Given the description of an element on the screen output the (x, y) to click on. 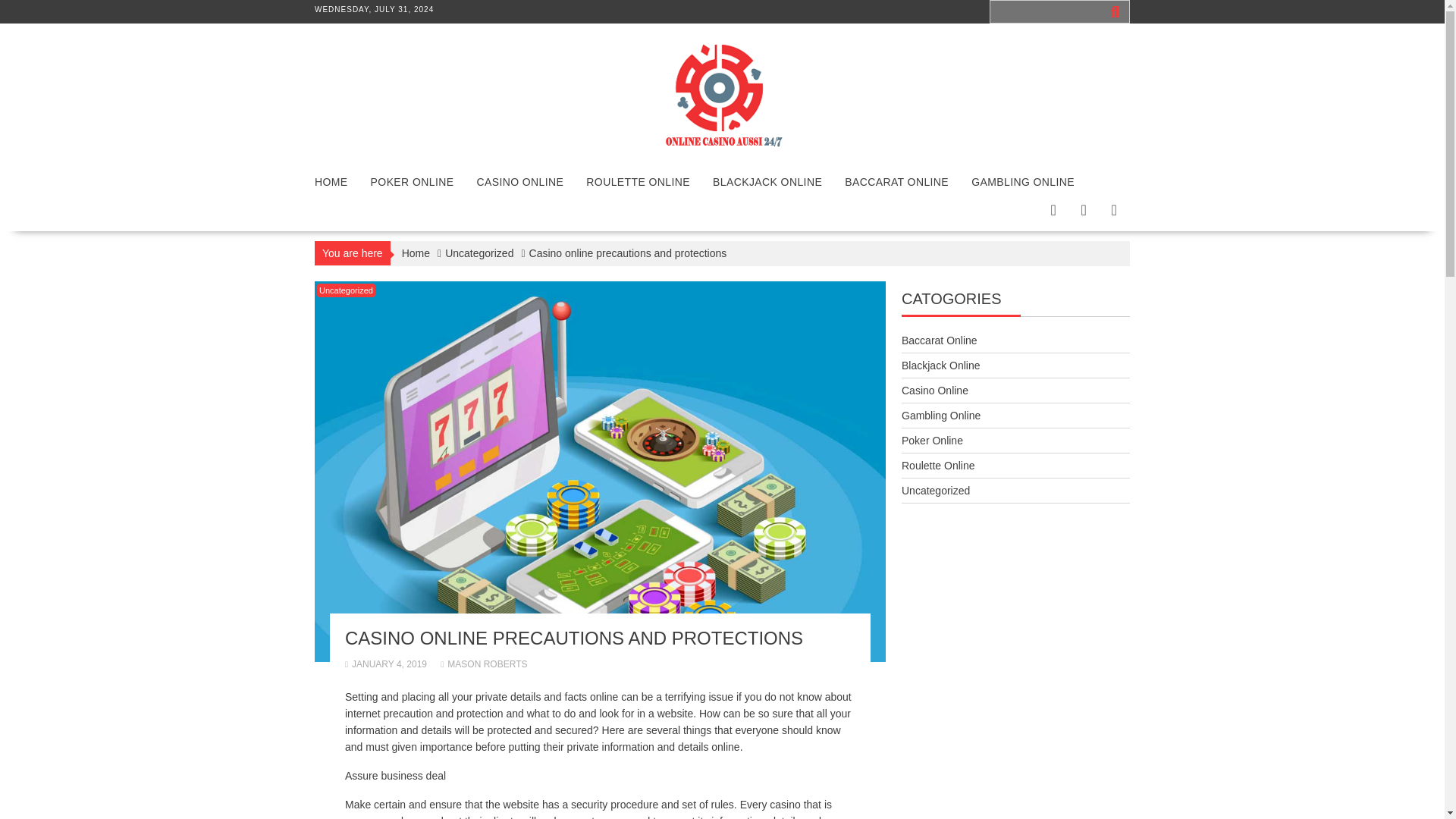
Home (415, 252)
HOME (330, 181)
Casino Online (934, 390)
MASON ROBERTS (484, 664)
Uncategorized (346, 290)
JANUARY 4, 2019 (385, 664)
CASINO ONLINE (519, 181)
BACCARAT ONLINE (895, 181)
Uncategorized (479, 252)
GAMBLING ONLINE (1022, 181)
